Given the description of an element on the screen output the (x, y) to click on. 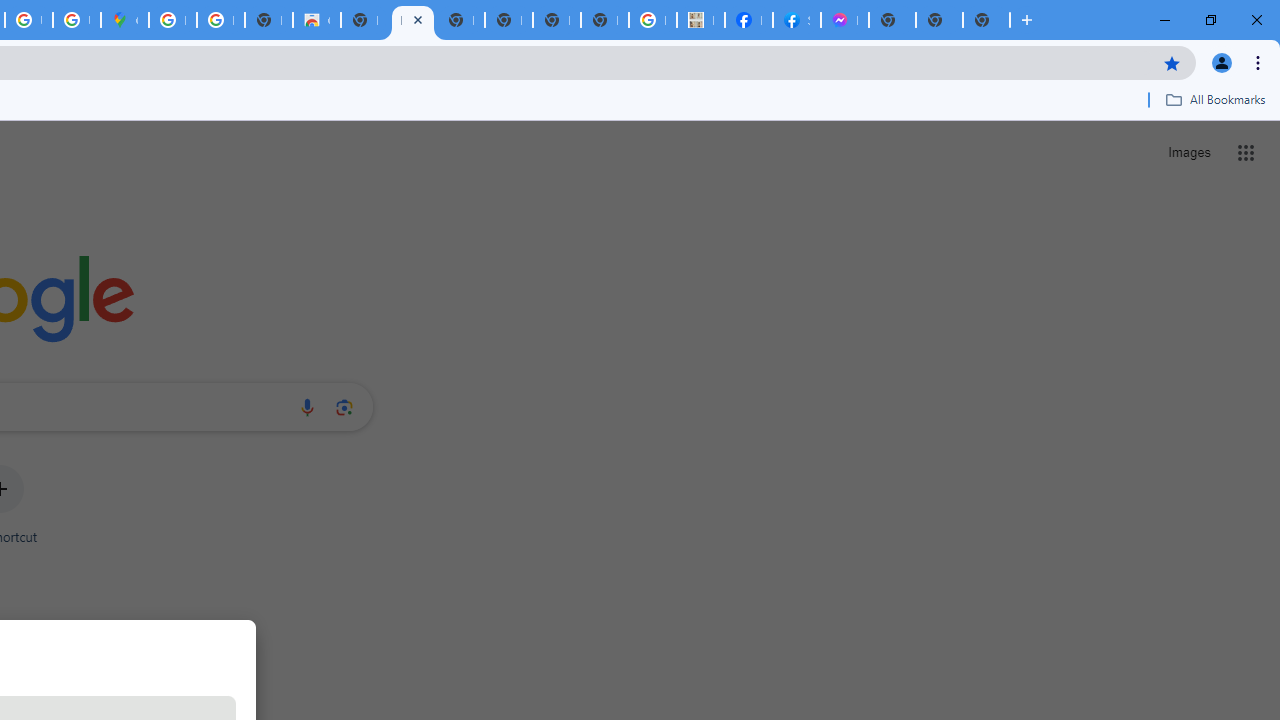
New Tab (985, 20)
All Bookmarks (1215, 99)
Google Maps (124, 20)
